Given the description of an element on the screen output the (x, y) to click on. 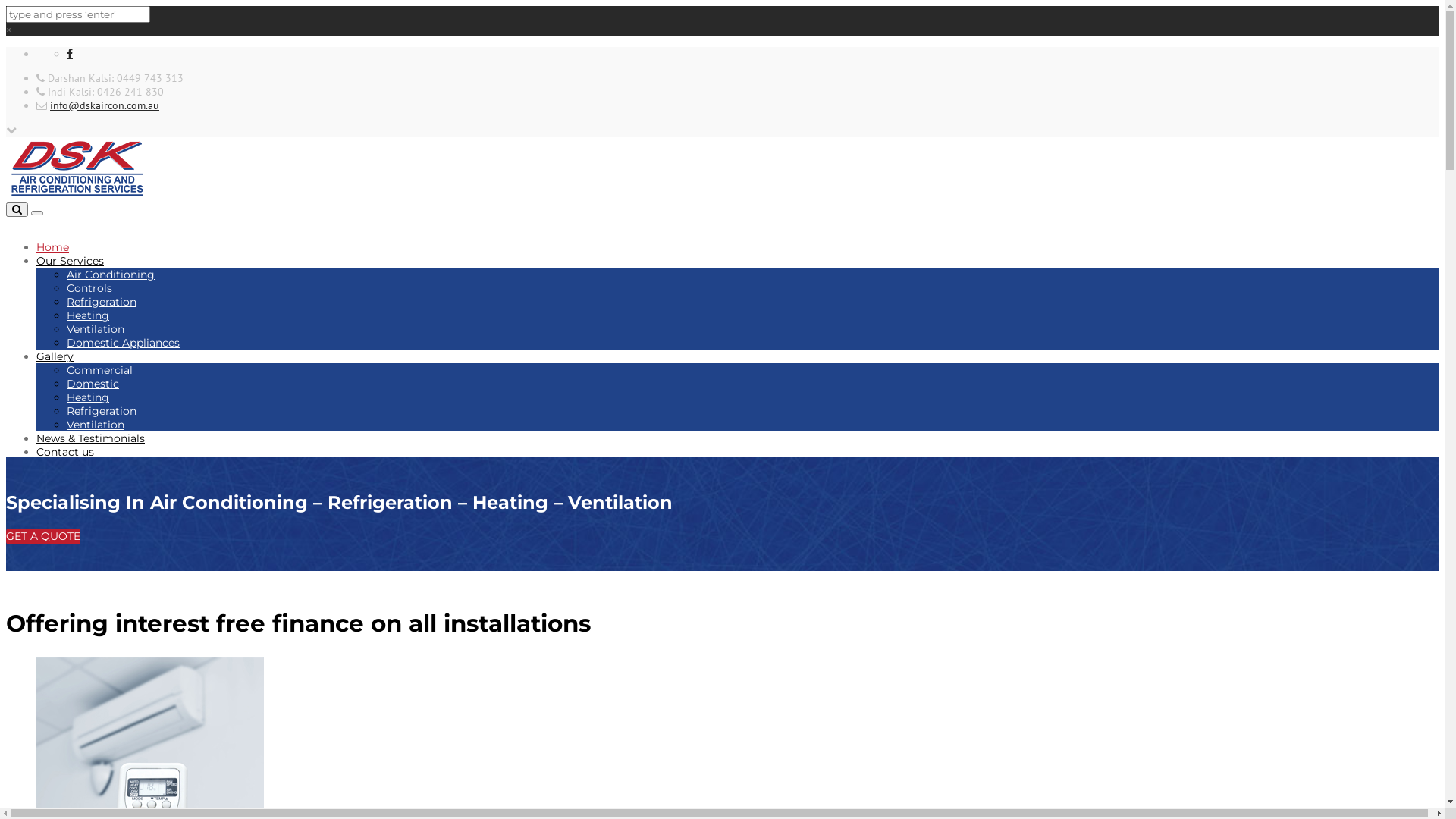
Ventilation Element type: text (95, 328)
info@dskaircon.com.au Element type: text (104, 105)
Heating Element type: text (87, 397)
Gallery Element type: text (54, 356)
Contact us Element type: text (65, 451)
Refrigeration Element type: text (101, 410)
Toggle navigation Element type: text (37, 212)
Commercial Element type: text (99, 369)
GET A QUOTE Element type: text (43, 536)
Controls Element type: text (89, 287)
News & Testimonials Element type: text (90, 438)
Home Element type: text (52, 247)
Heating Element type: text (87, 315)
Refrigeration Element type: text (101, 301)
Air Conditioning Element type: text (110, 274)
Our Services Element type: text (69, 260)
Domestic Element type: text (92, 383)
Ventilation Element type: text (95, 424)
Domestic Appliances Element type: text (122, 342)
